Given the description of an element on the screen output the (x, y) to click on. 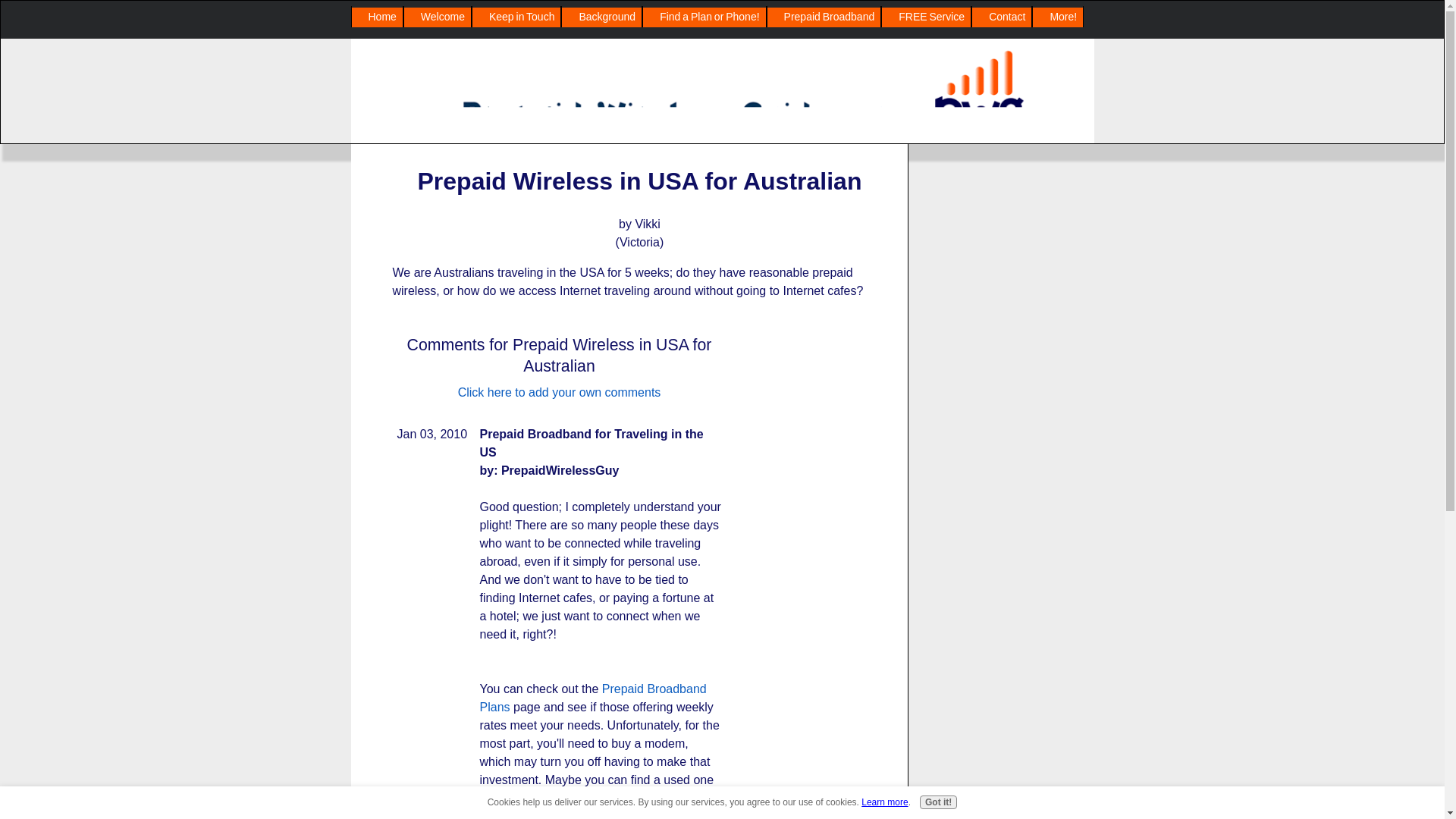
Home (377, 17)
Contact (1001, 17)
